Given the description of an element on the screen output the (x, y) to click on. 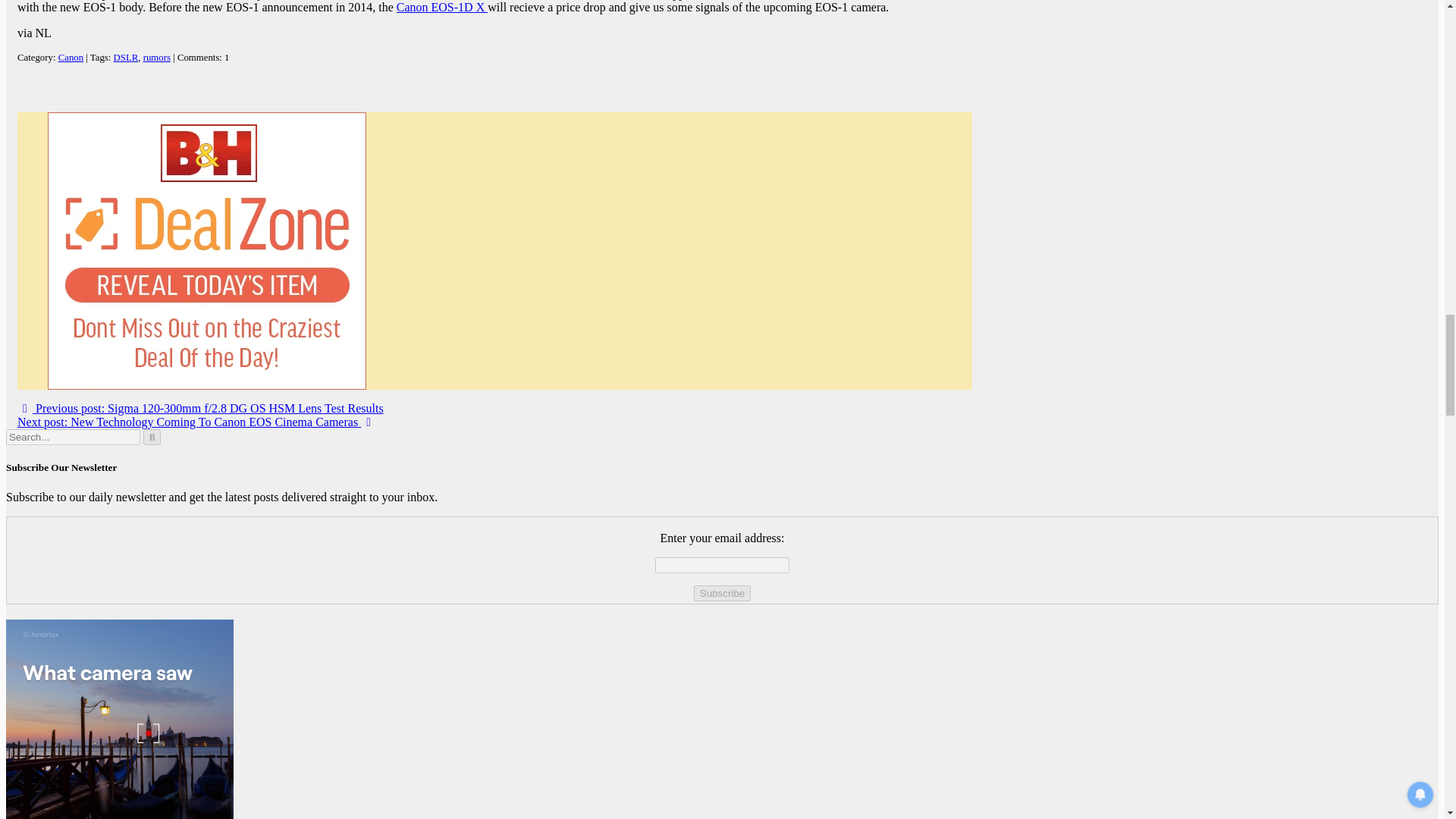
Subscribe (722, 593)
